Given the description of an element on the screen output the (x, y) to click on. 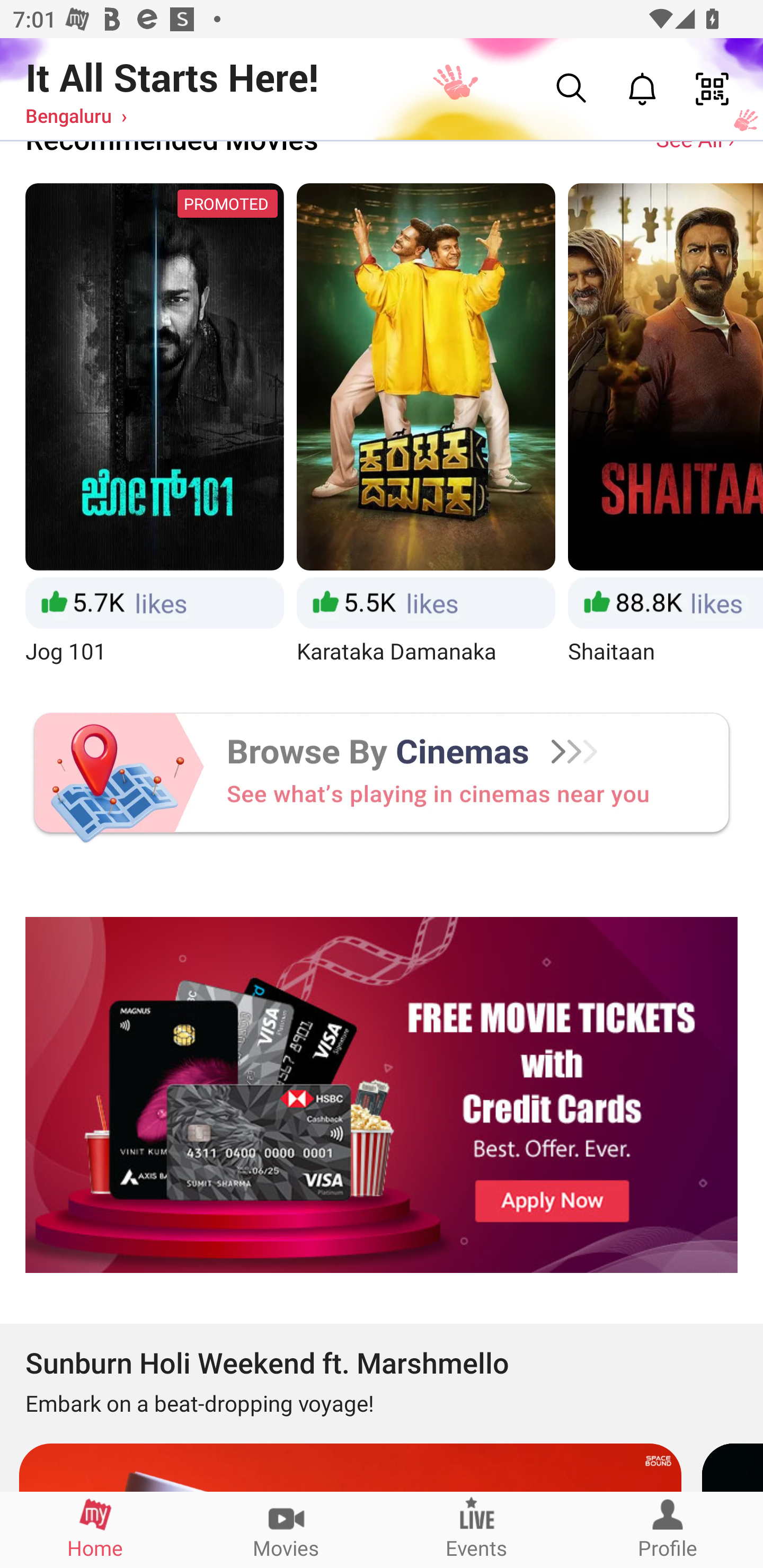
Bengaluru  › (76, 114)
Jog 101 PROMOTED (154, 426)
Karataka Damanaka (425, 426)
Shaitaan (665, 426)
Home (95, 1529)
Movies (285, 1529)
Events (476, 1529)
Profile (667, 1529)
